Given the description of an element on the screen output the (x, y) to click on. 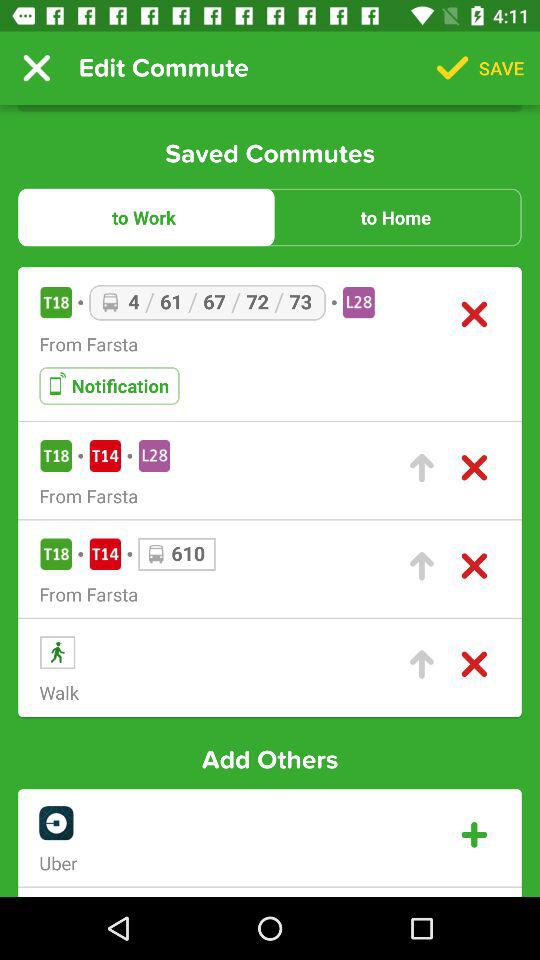
remove item (474, 314)
